Given the description of an element on the screen output the (x, y) to click on. 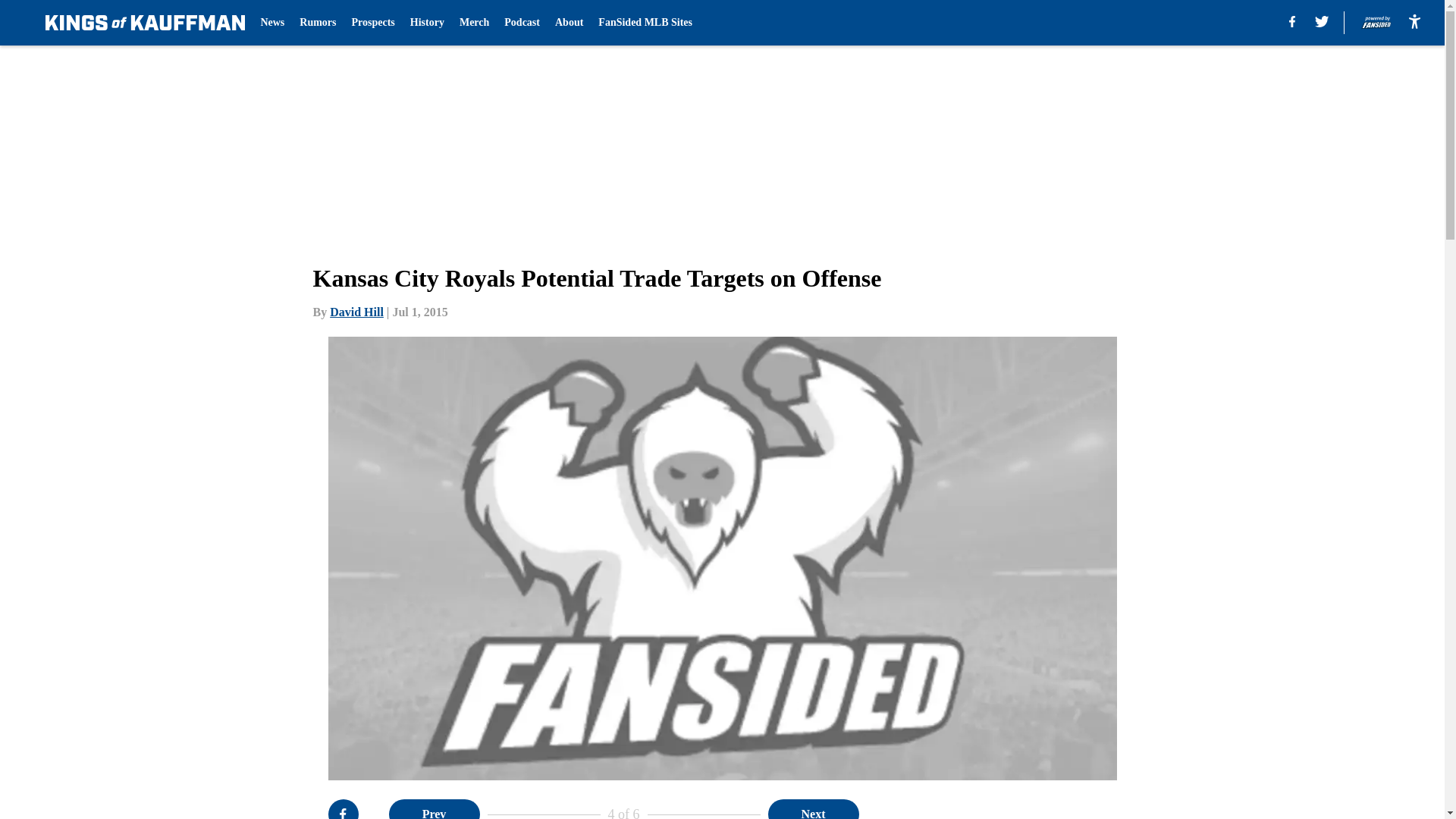
History (427, 22)
Next (813, 809)
Prev (433, 809)
Merch (474, 22)
Podcast (521, 22)
News (271, 22)
Prospects (373, 22)
FanSided MLB Sites (645, 22)
David Hill (357, 311)
About (568, 22)
Rumors (317, 22)
